Given the description of an element on the screen output the (x, y) to click on. 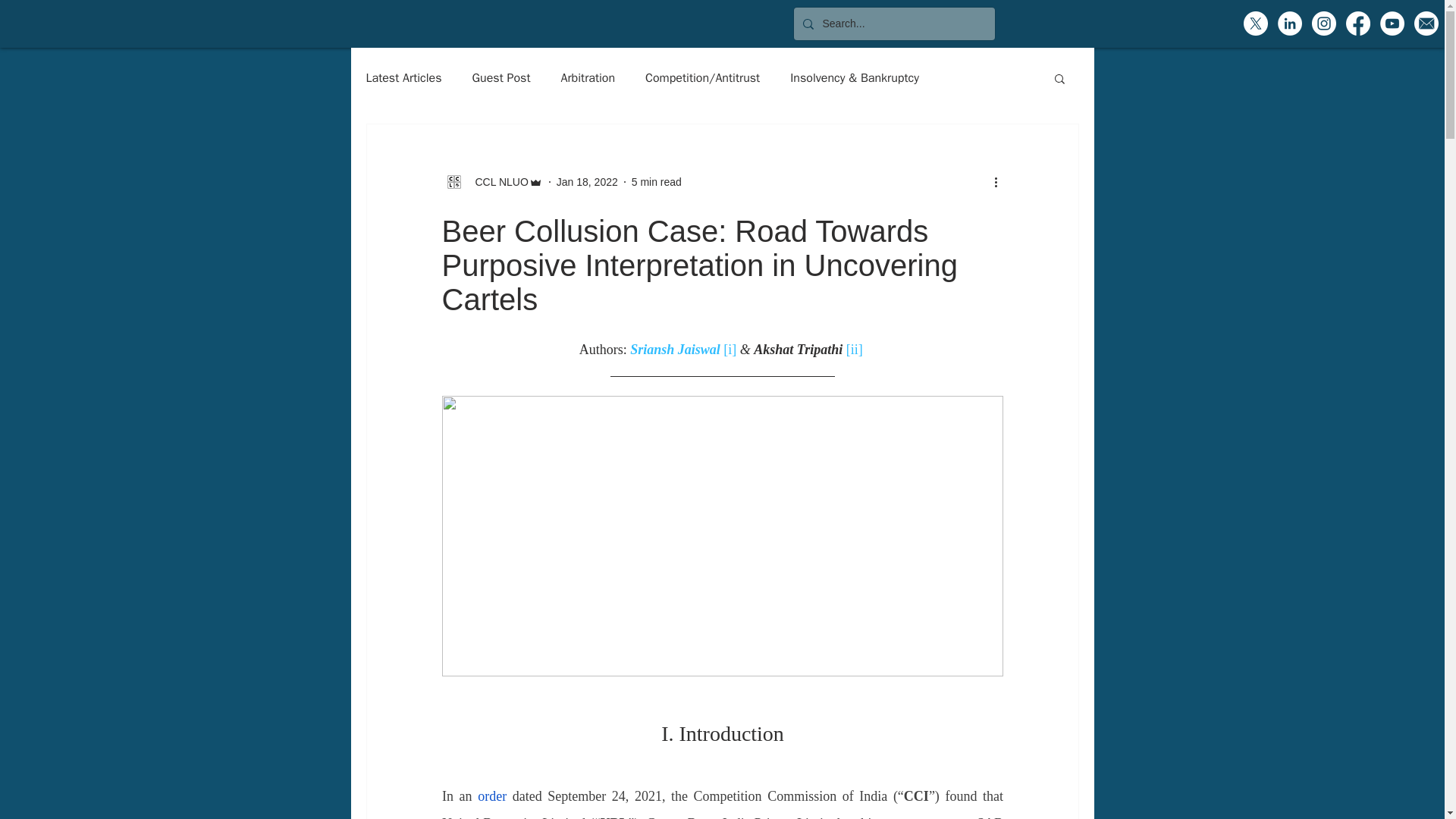
Arbitration (587, 77)
Latest Articles (403, 77)
Jan 18, 2022 (586, 182)
CCL NLUO (496, 182)
Guest Post (501, 77)
5 min read (656, 182)
Sriansh Jaiswal (675, 349)
order (491, 795)
